Given the description of an element on the screen output the (x, y) to click on. 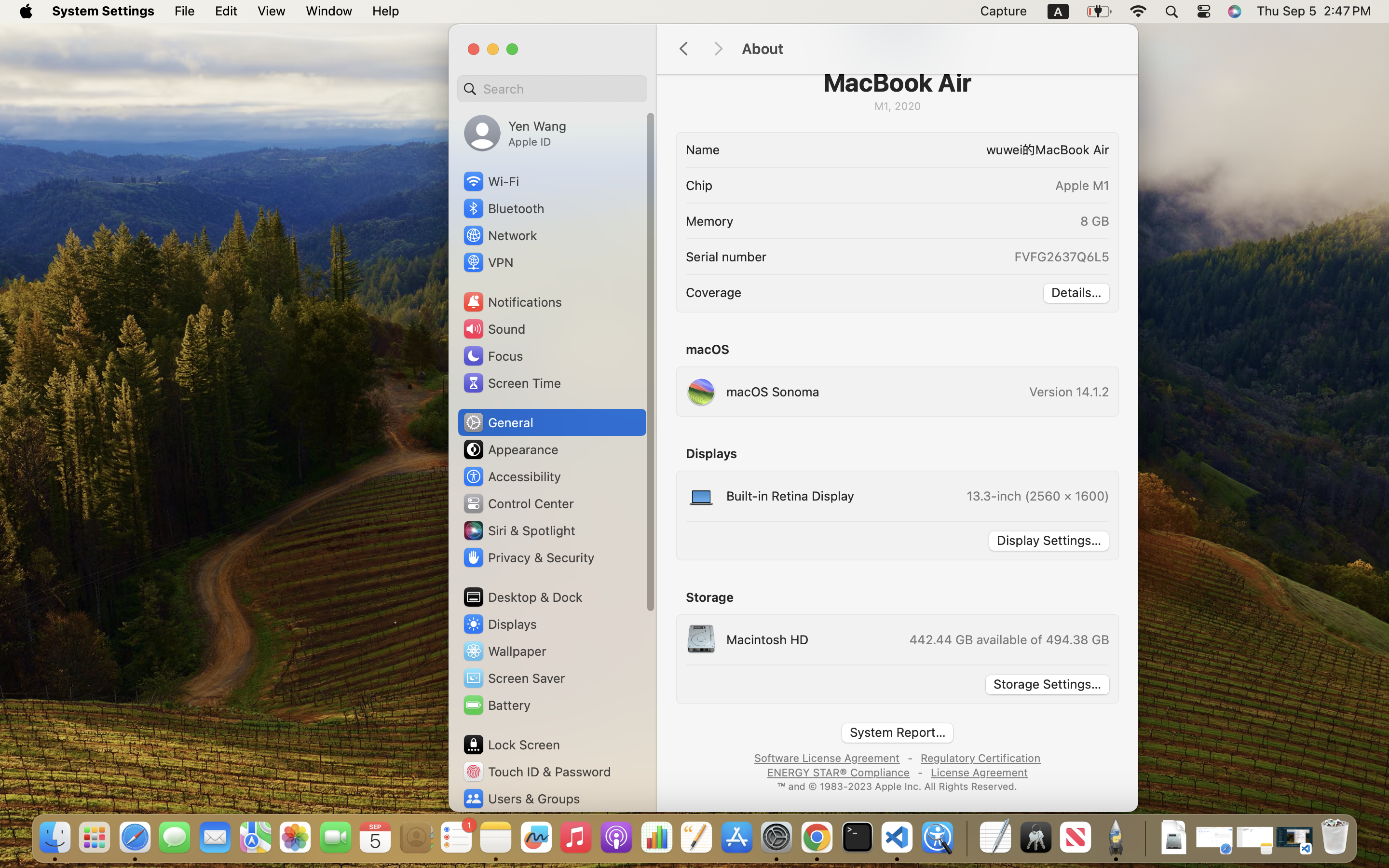
Focus Element type: AXStaticText (492, 355)
8 GB Element type: AXStaticText (1094, 220)
Accessibility Element type: AXStaticText (511, 476)
Wallpaper Element type: AXStaticText (503, 650)
Appearance Element type: AXStaticText (510, 449)
